Given the description of an element on the screen output the (x, y) to click on. 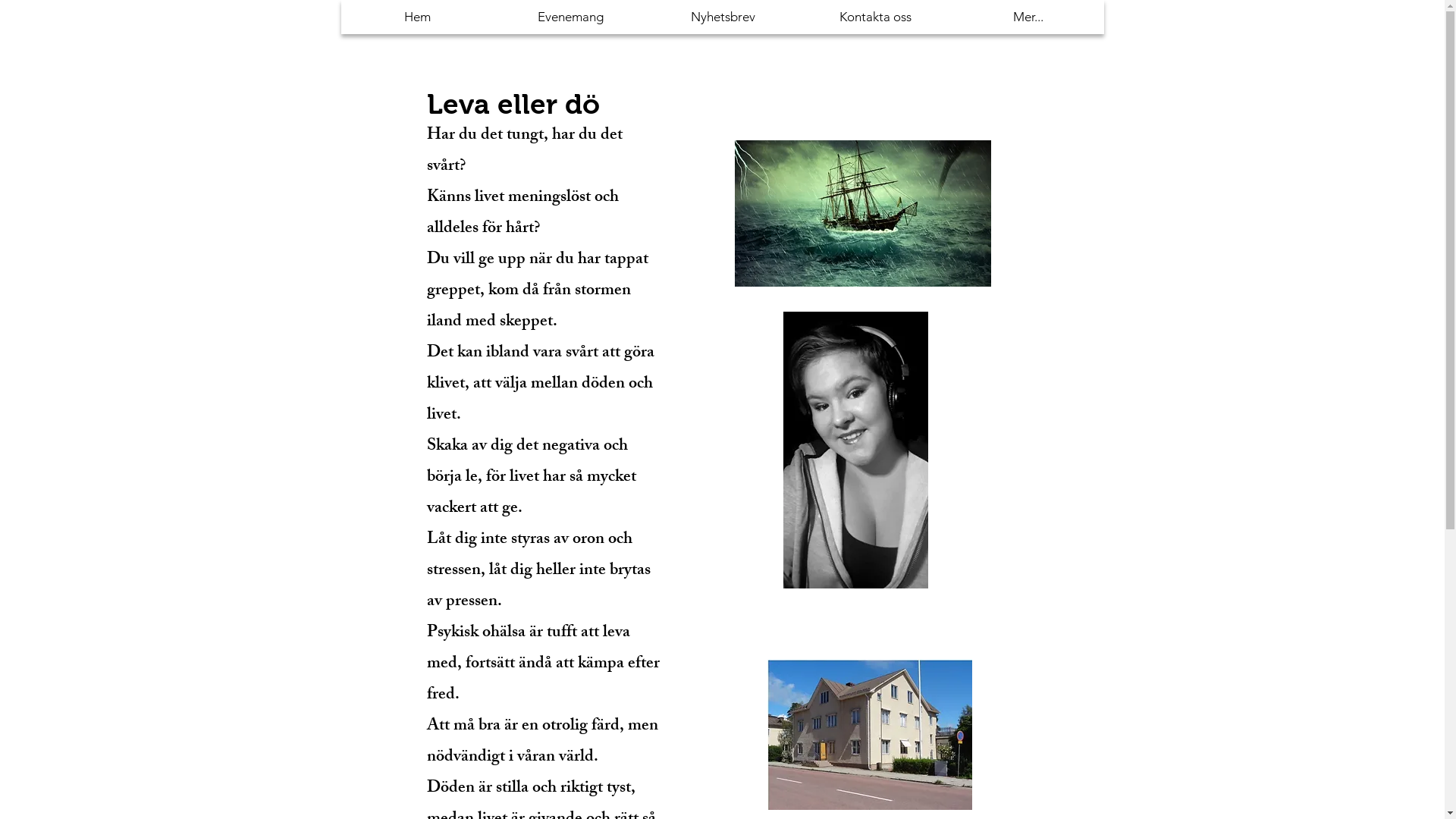
Evenemang Element type: text (570, 17)
Kontakta oss Element type: text (875, 17)
Hem Element type: text (417, 17)
Nyhetsbrev Element type: text (722, 17)
